Given the description of an element on the screen output the (x, y) to click on. 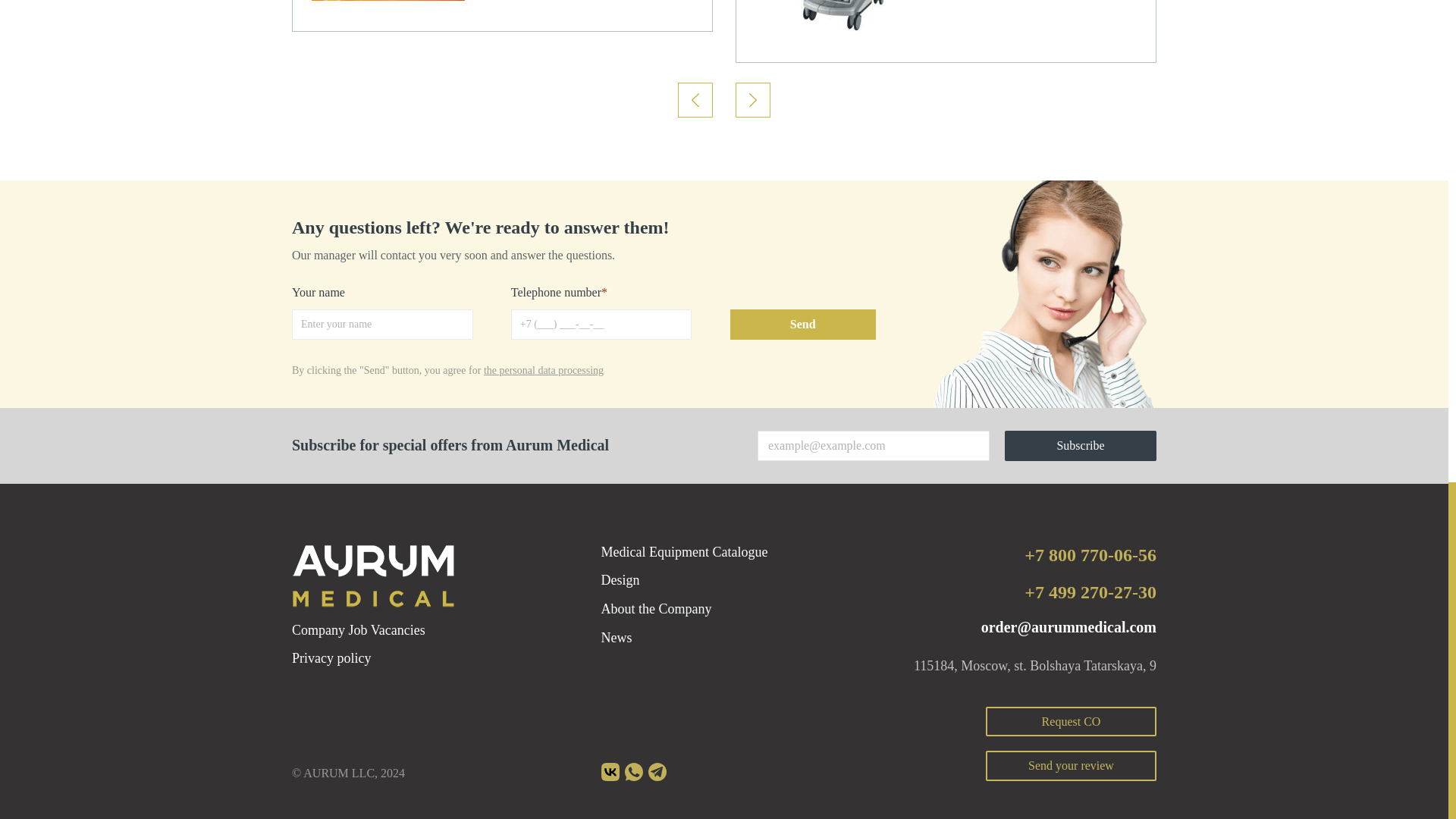
Send (802, 324)
Subscribe (1080, 445)
